Given the description of an element on the screen output the (x, y) to click on. 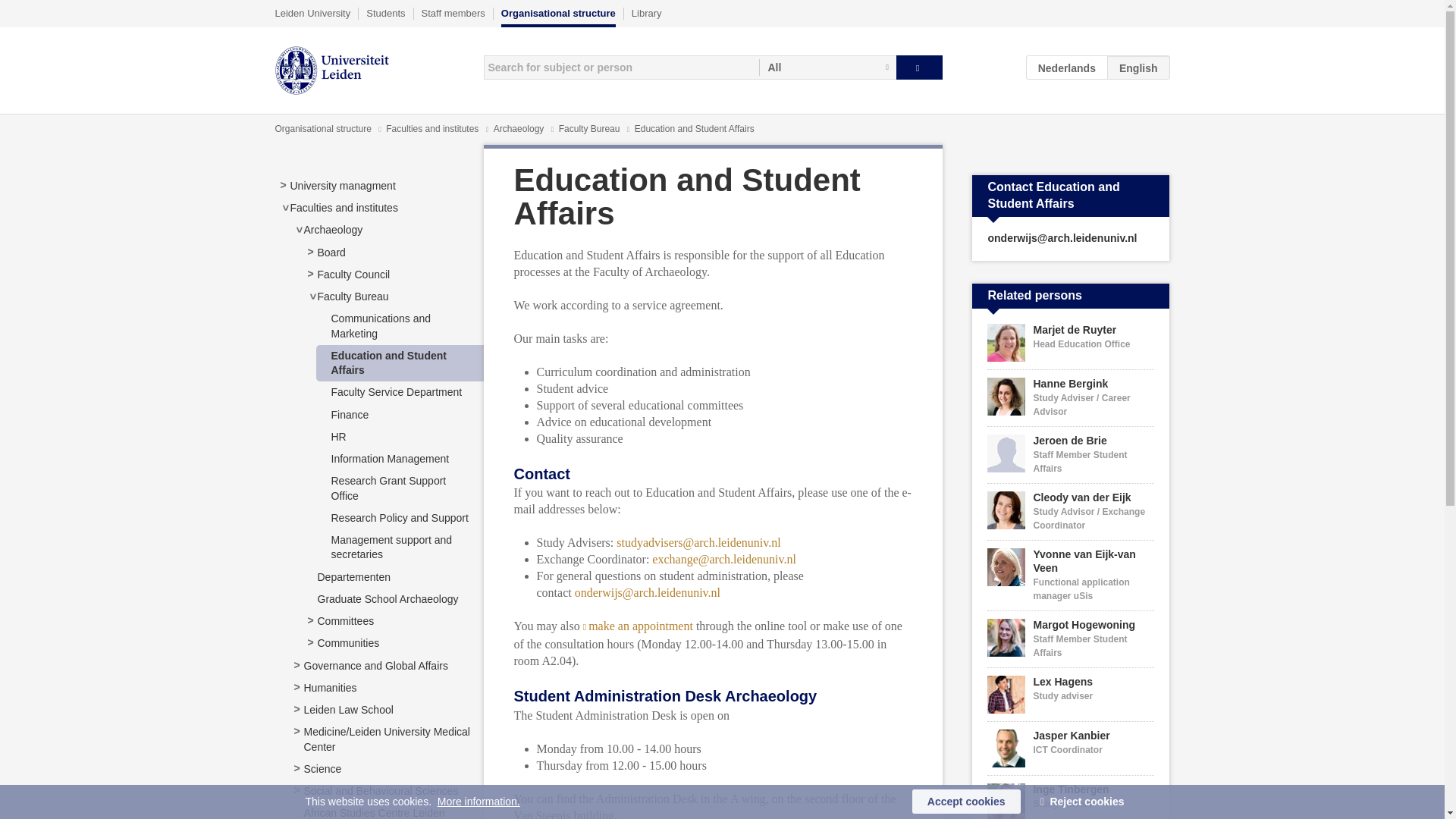
University managment (341, 185)
University managment (341, 185)
Staff members (453, 13)
Faculties and institutes (432, 128)
Organisational structure (557, 17)
Archaeology (520, 128)
Library (646, 13)
Faculties and institutes (343, 207)
Archaeology (332, 229)
All (827, 67)
Organisational structure (323, 128)
Leiden University (312, 13)
Archaeology (332, 229)
Students (385, 13)
Faculties and institutes (343, 207)
